Given the description of an element on the screen output the (x, y) to click on. 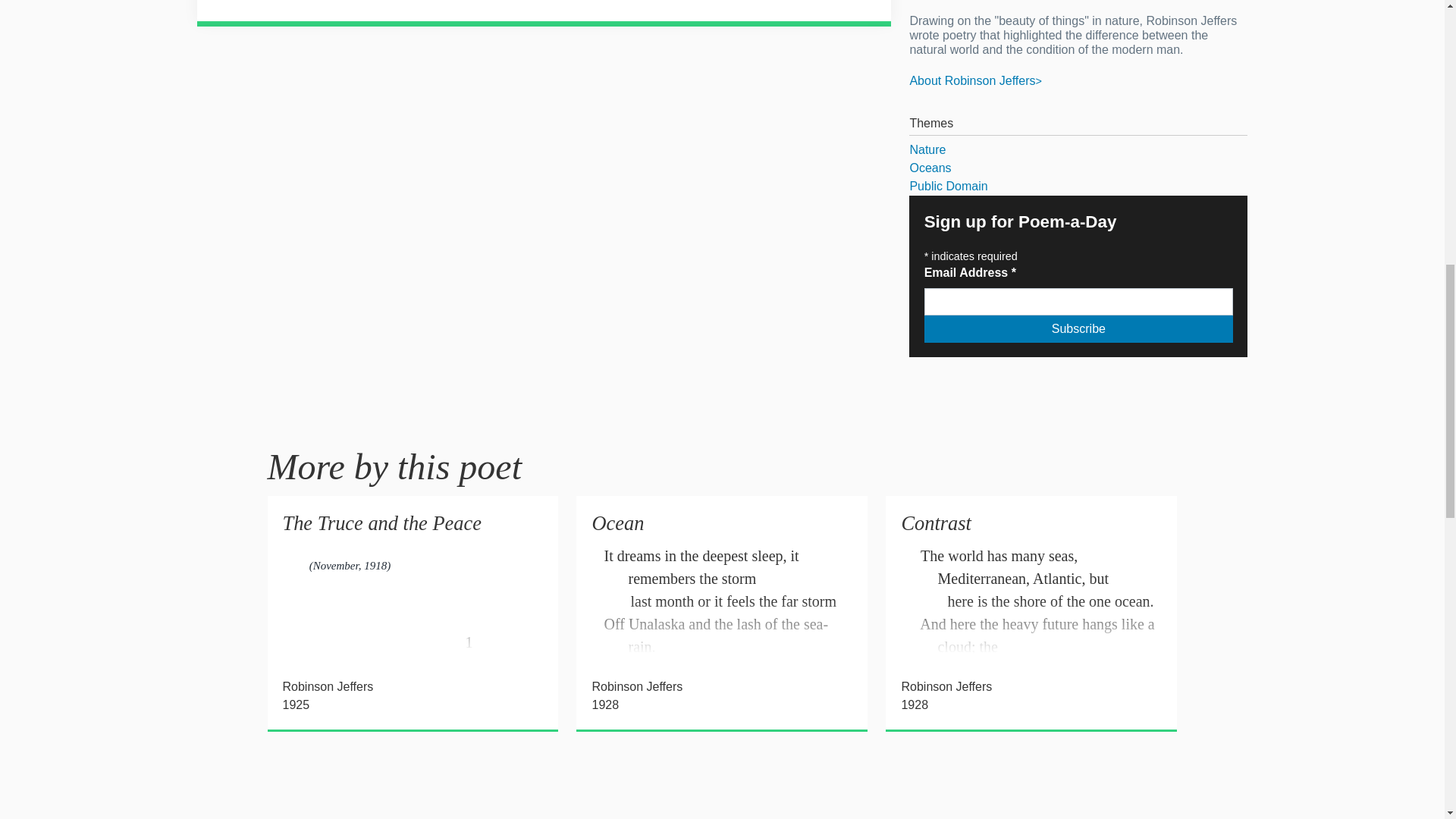
Subscribe (1078, 329)
Oceans (1077, 167)
About Robinson Jeffers (974, 80)
Public Domain (1077, 186)
Subscribe (1078, 329)
Nature (1077, 149)
